Given the description of an element on the screen output the (x, y) to click on. 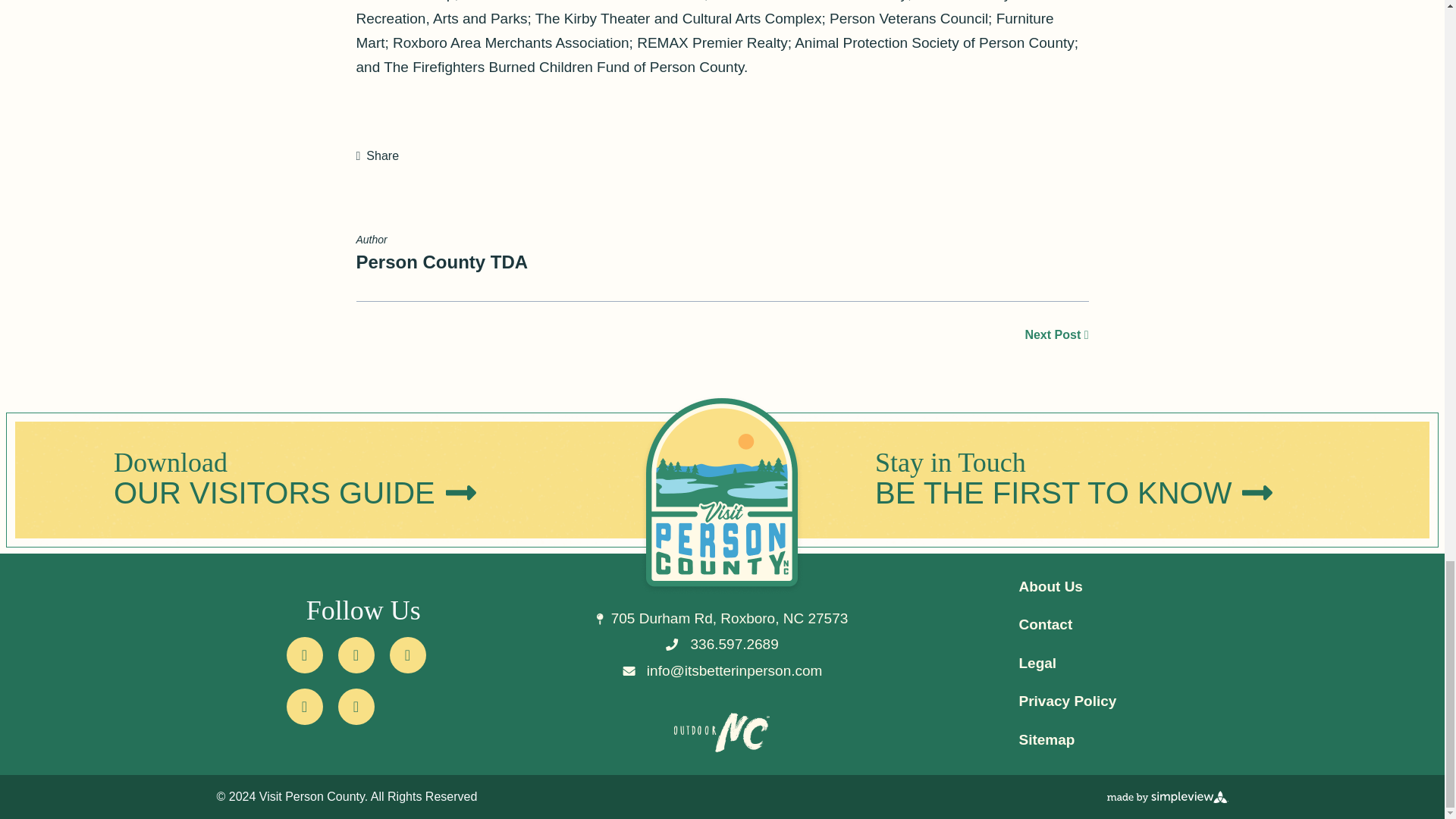
Sitemap (1045, 739)
Visit our tiktok page (355, 706)
Visit our youtube page (304, 706)
Legal (1037, 662)
Visit our x page (355, 655)
Visit our instagram page (408, 655)
Privacy Policy (1066, 700)
Contact (1044, 624)
Share (377, 156)
Visit our facebook page (304, 655)
About Us (1049, 586)
